Given the description of an element on the screen output the (x, y) to click on. 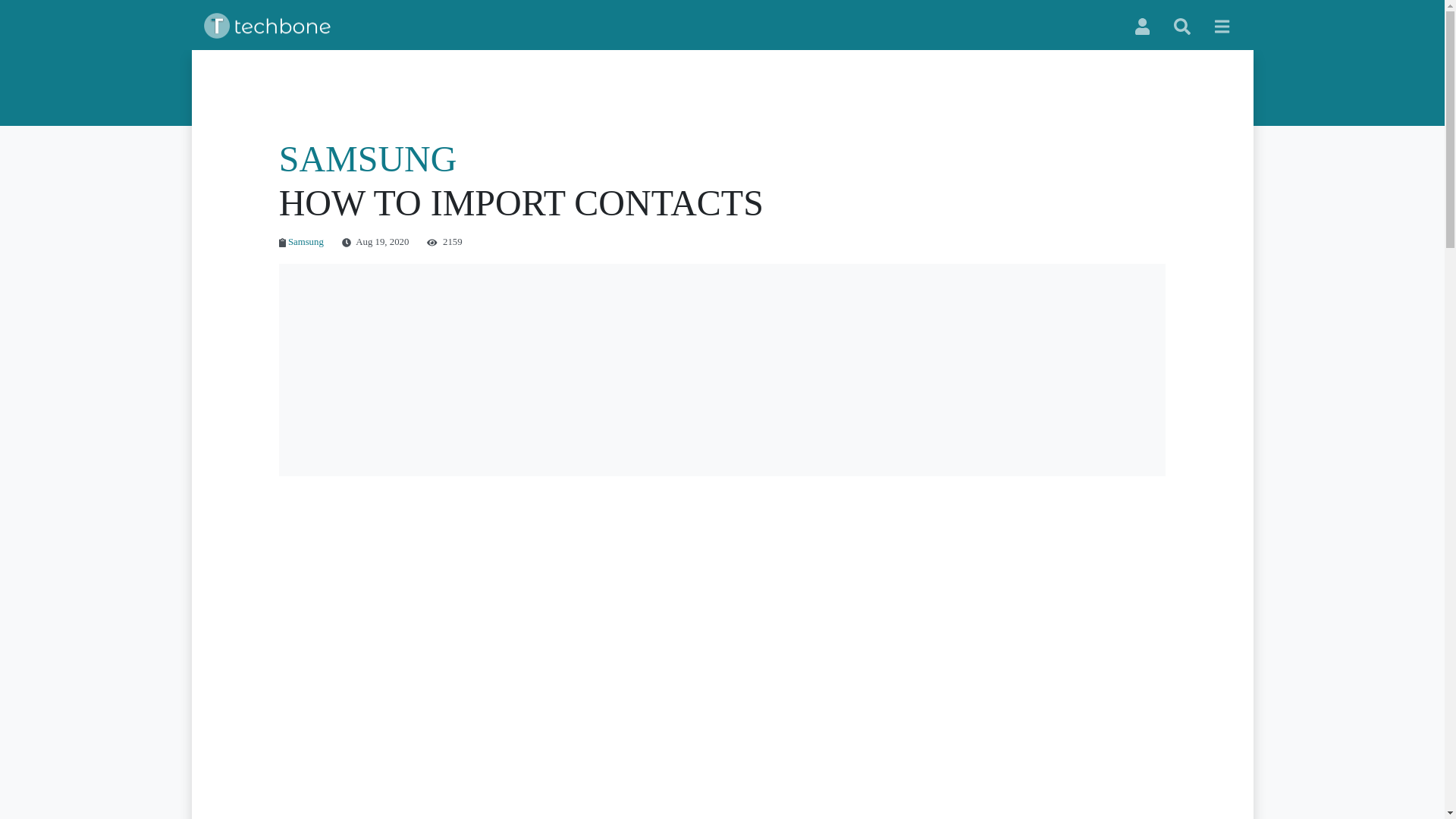
Samsung (305, 241)
TechBone (269, 25)
